Given the description of an element on the screen output the (x, y) to click on. 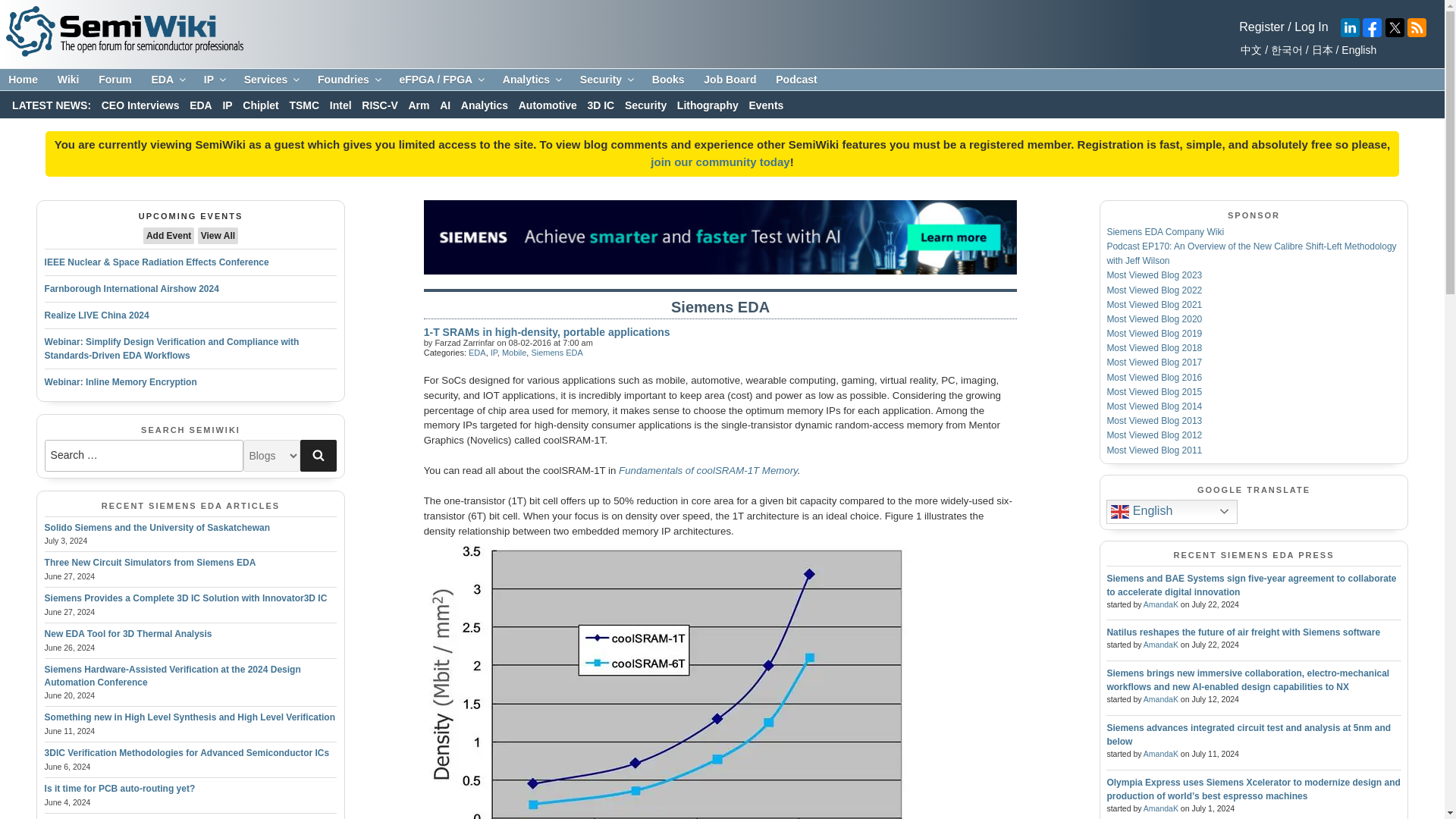
EDA (167, 79)
Login (1261, 26)
IP (213, 79)
Korean (1284, 50)
Register (1261, 26)
Forum (114, 79)
Farnborough International Airshow 2024 (132, 288)
Japanese (1319, 50)
Wiki (68, 79)
Realize LIVE China 2024 (97, 315)
Log In (1310, 26)
English (1356, 50)
Home (23, 79)
Login (719, 161)
Login (1310, 26)
